Given the description of an element on the screen output the (x, y) to click on. 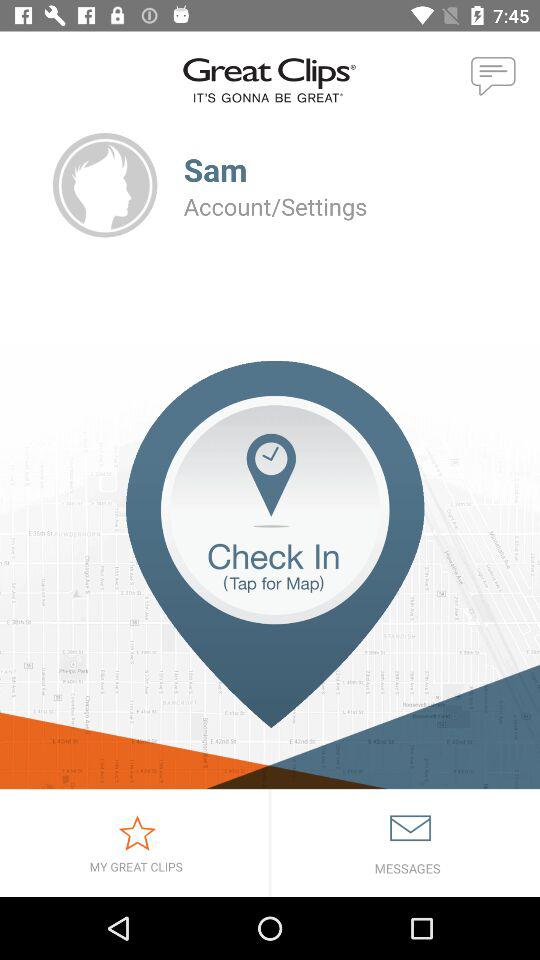
go to great clips list (134, 843)
